Given the description of an element on the screen output the (x, y) to click on. 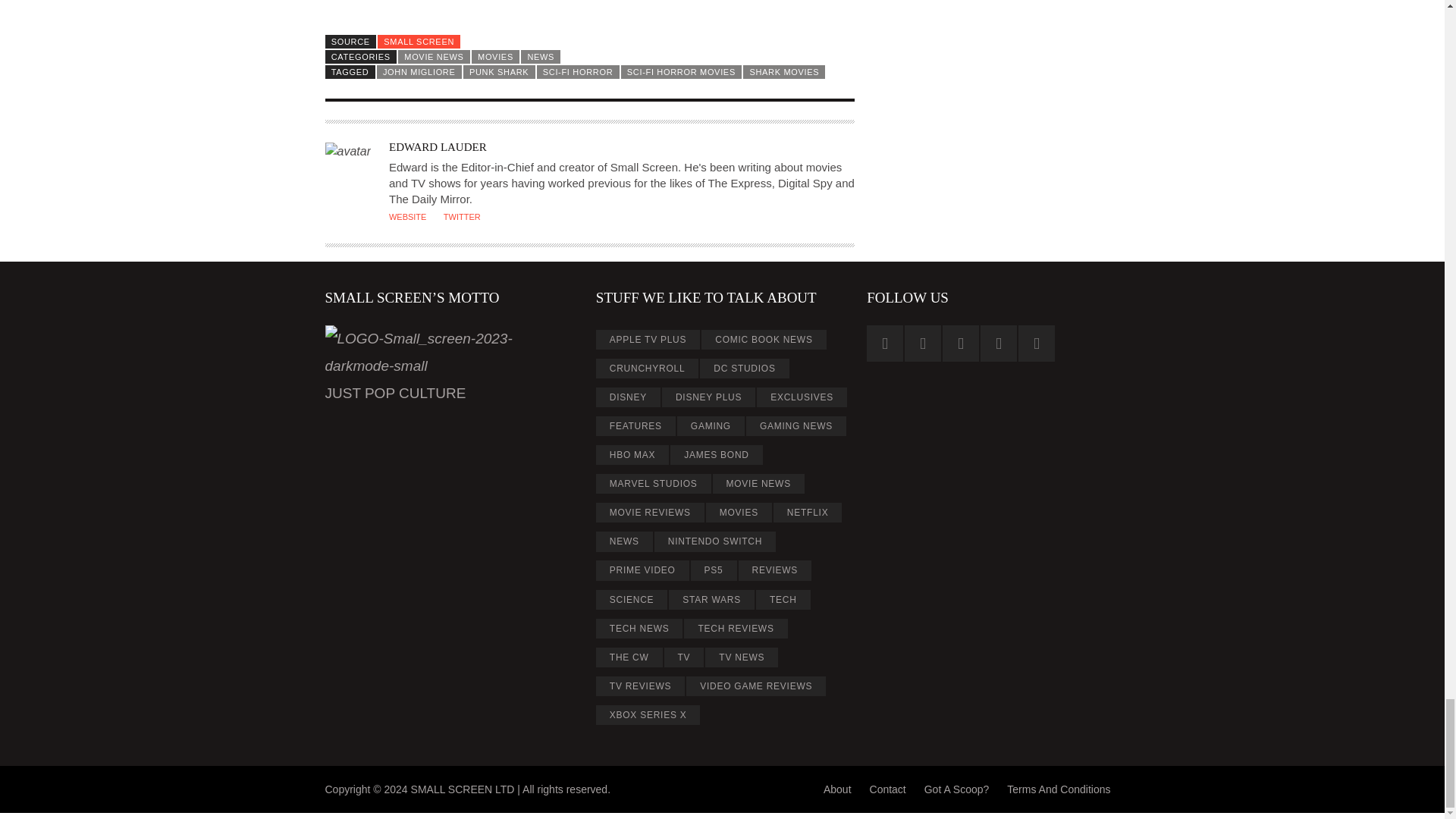
View all posts tagged John Migliore (419, 71)
View all posts tagged Punk Shark (499, 71)
View all posts in MOVIE NEWS (433, 56)
View all posts tagged Shark Movies (783, 71)
Posts by Edward Lauder (437, 146)
View all posts in MOVIES (495, 56)
View all posts tagged Sci-fi horror (578, 71)
View all posts tagged Sci-Fi Horror movies (681, 71)
View all posts in NEWS (540, 56)
